Given the description of an element on the screen output the (x, y) to click on. 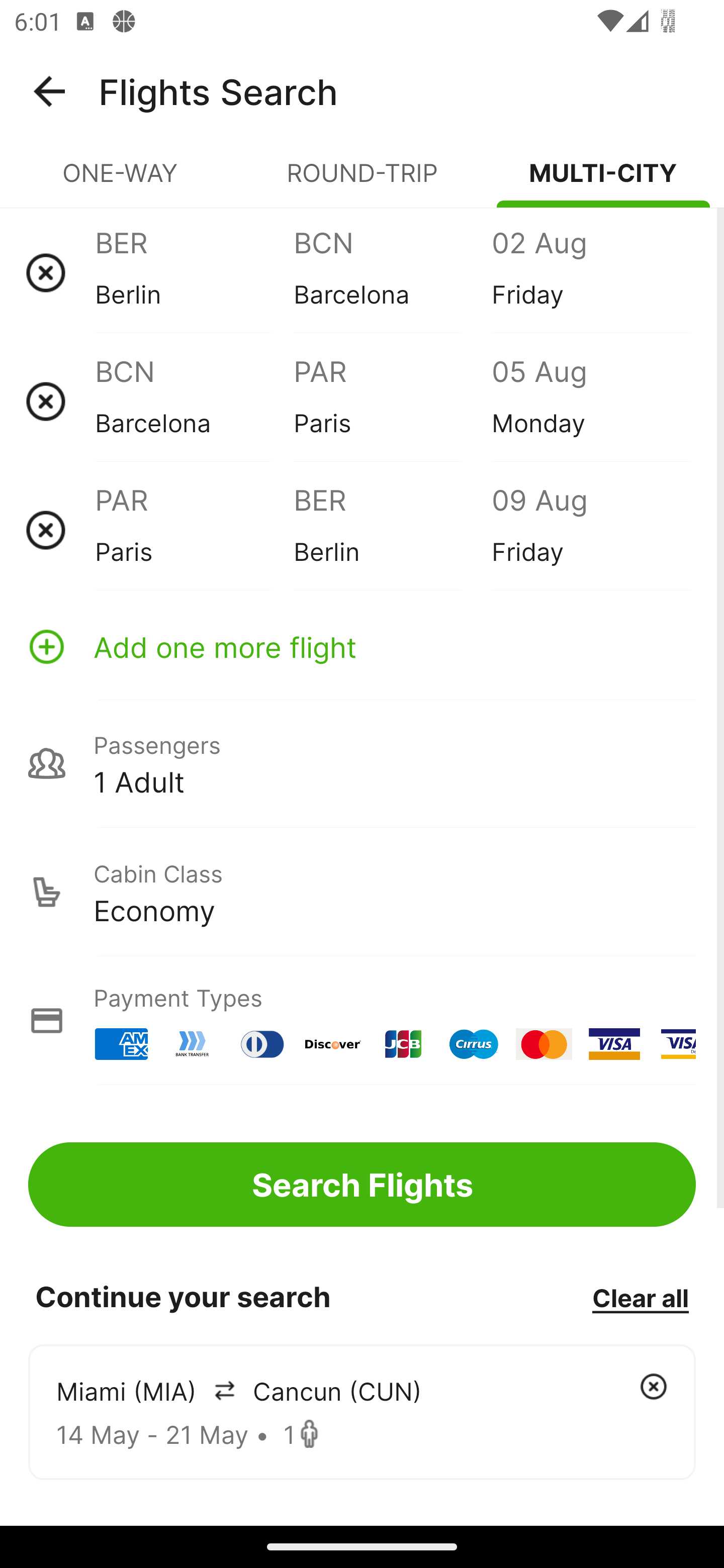
ONE-WAY (120, 180)
ROUND-TRIP (361, 180)
MULTI-CITY (603, 180)
BER Berlin (193, 272)
BCN Barcelona (392, 272)
02 Aug Friday (590, 272)
BCN Barcelona (193, 401)
PAR Paris (392, 401)
05 Aug Monday (590, 401)
PAR Paris (193, 529)
BER Berlin (392, 529)
09 Aug Friday (590, 529)
Add one more flight (362, 646)
Passengers 1 Adult (362, 762)
Cabin Class Economy (362, 891)
Payment Types (362, 1020)
Search Flights (361, 1184)
Clear all (640, 1297)
